Given the description of an element on the screen output the (x, y) to click on. 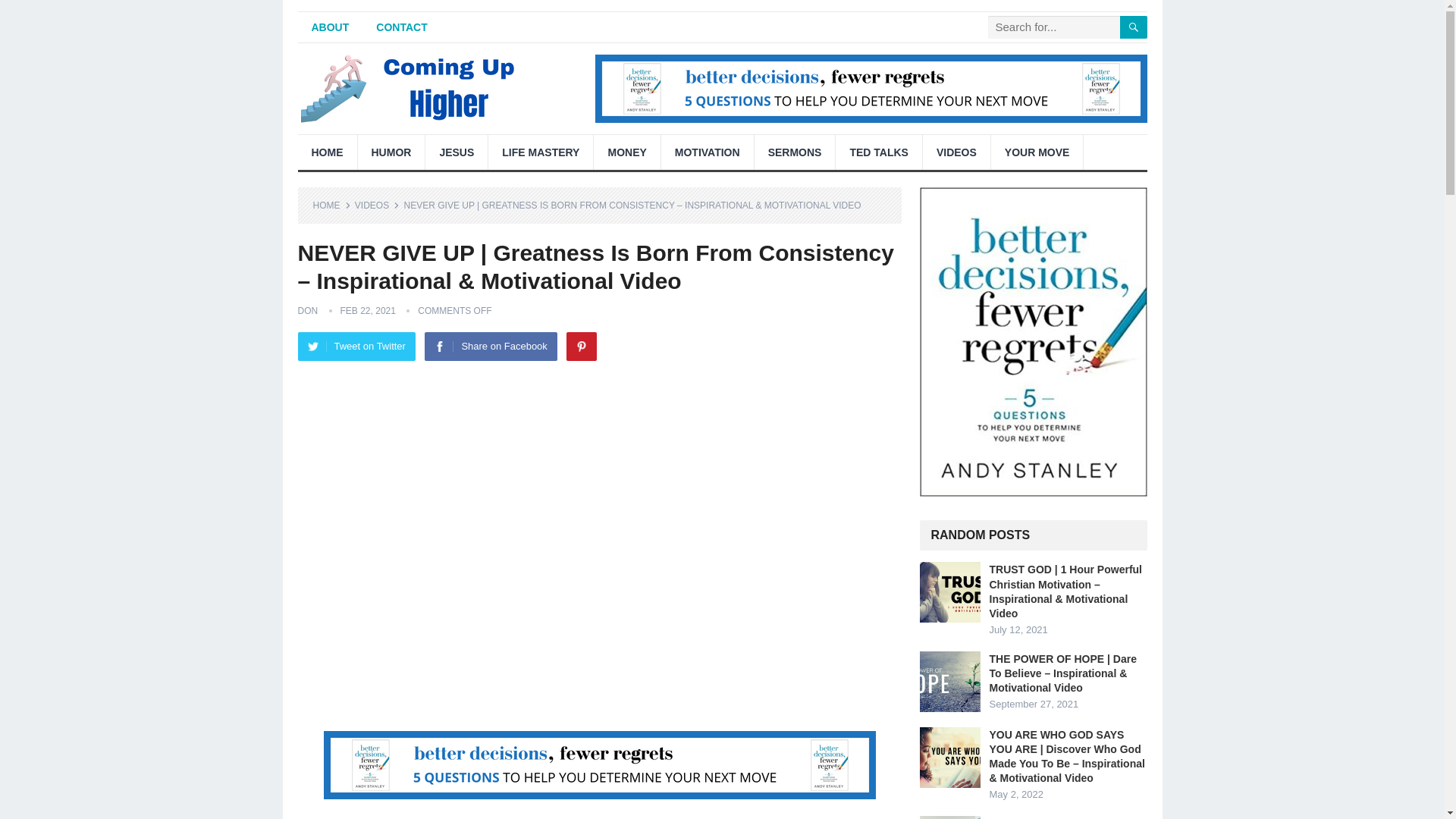
ABOUT (329, 27)
MOTIVATION (707, 152)
JESUS (456, 152)
TED TALKS (878, 152)
HUMOR (391, 152)
LIFE MASTERY (539, 152)
View all posts in Videos (376, 204)
HOME (331, 204)
YOUR MOVE (1037, 152)
DON (307, 310)
Are You an Optimist or a Pessimist? 16 (948, 817)
VIDEOS (376, 204)
Tweet on Twitter (355, 346)
SERMONS (794, 152)
Posts by Don (307, 310)
